Given the description of an element on the screen output the (x, y) to click on. 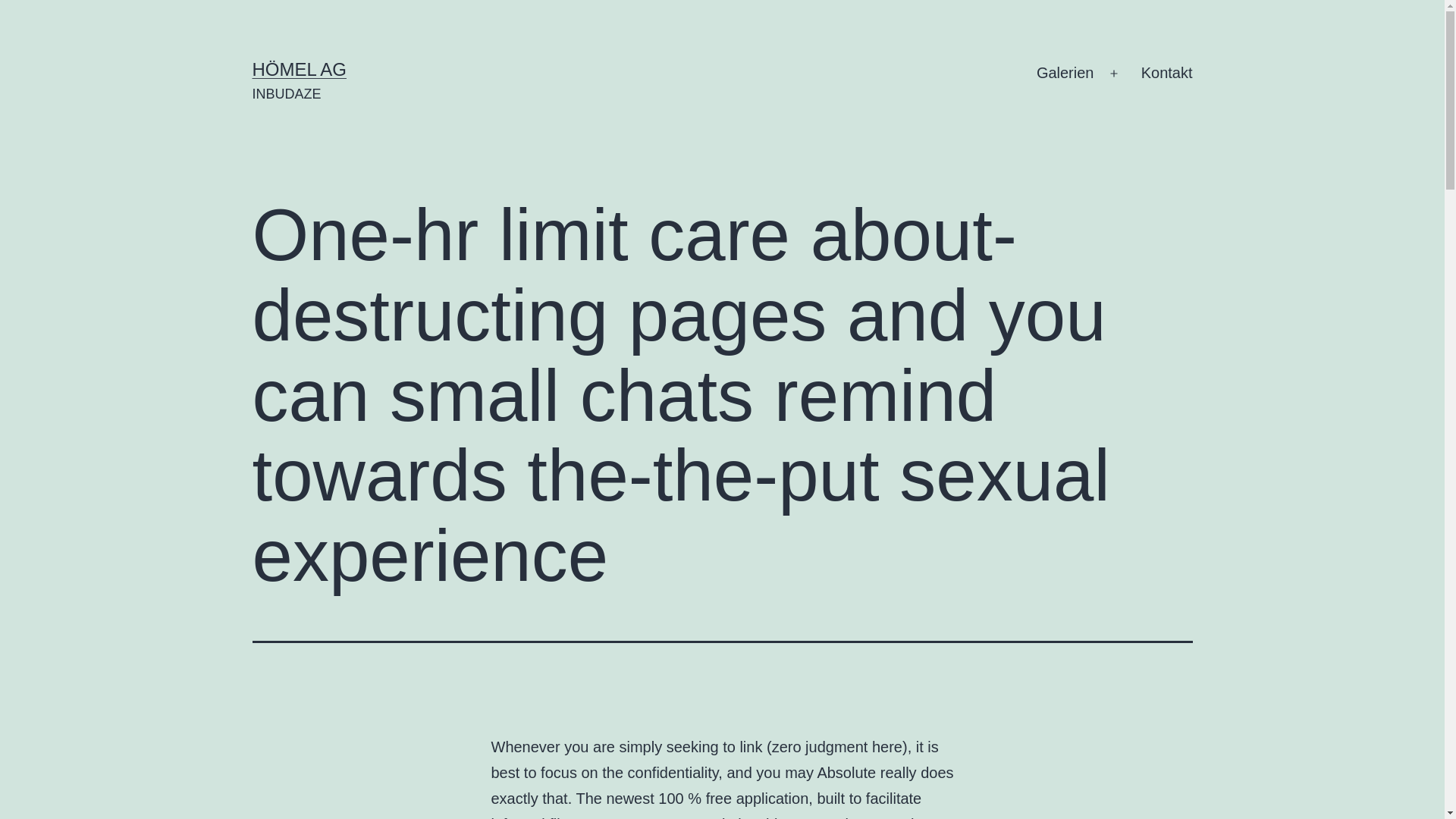
Kontakt (1166, 73)
Galerien (1064, 73)
